Given the description of an element on the screen output the (x, y) to click on. 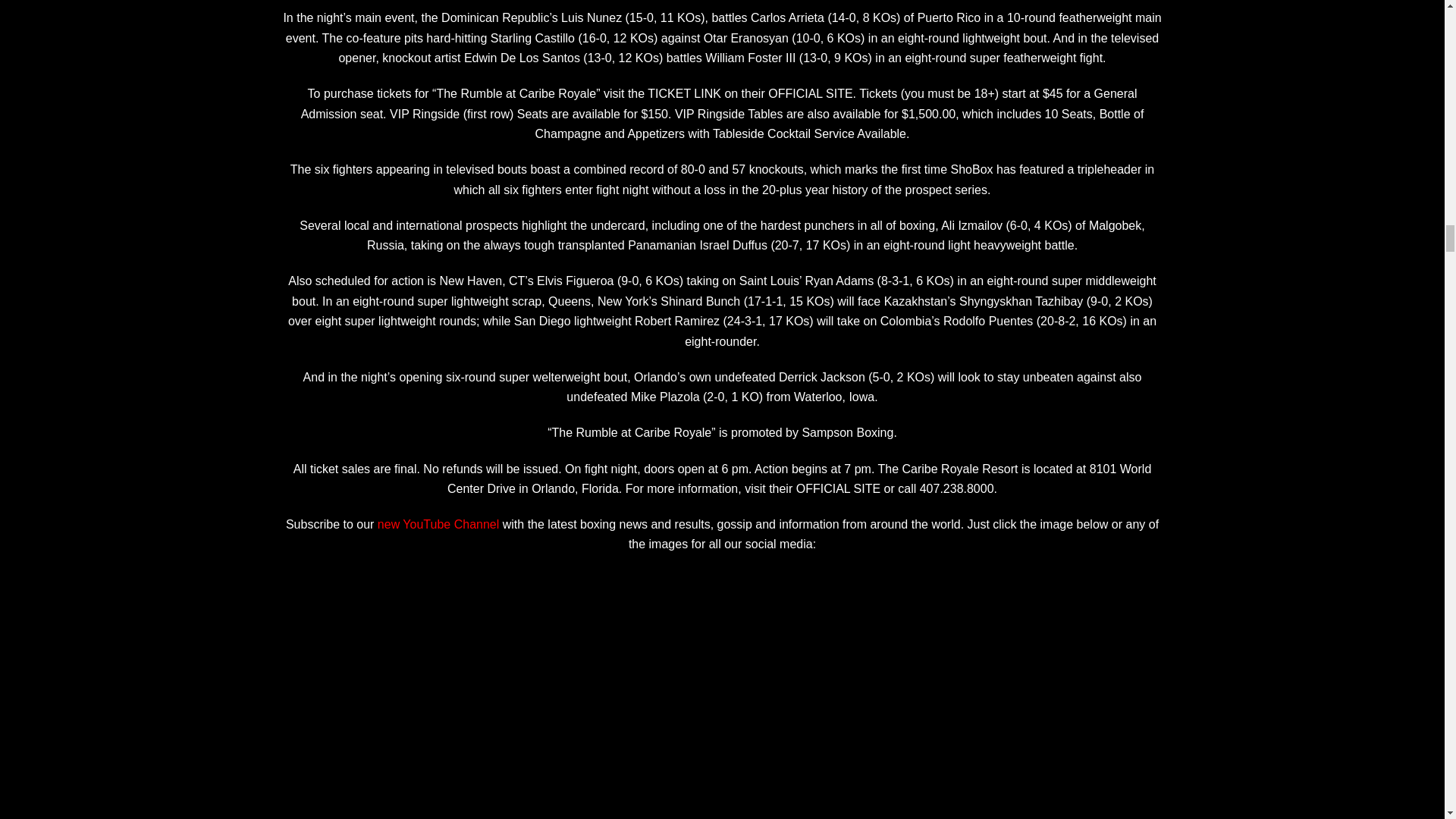
YouTube video player (721, 689)
